Given the description of an element on the screen output the (x, y) to click on. 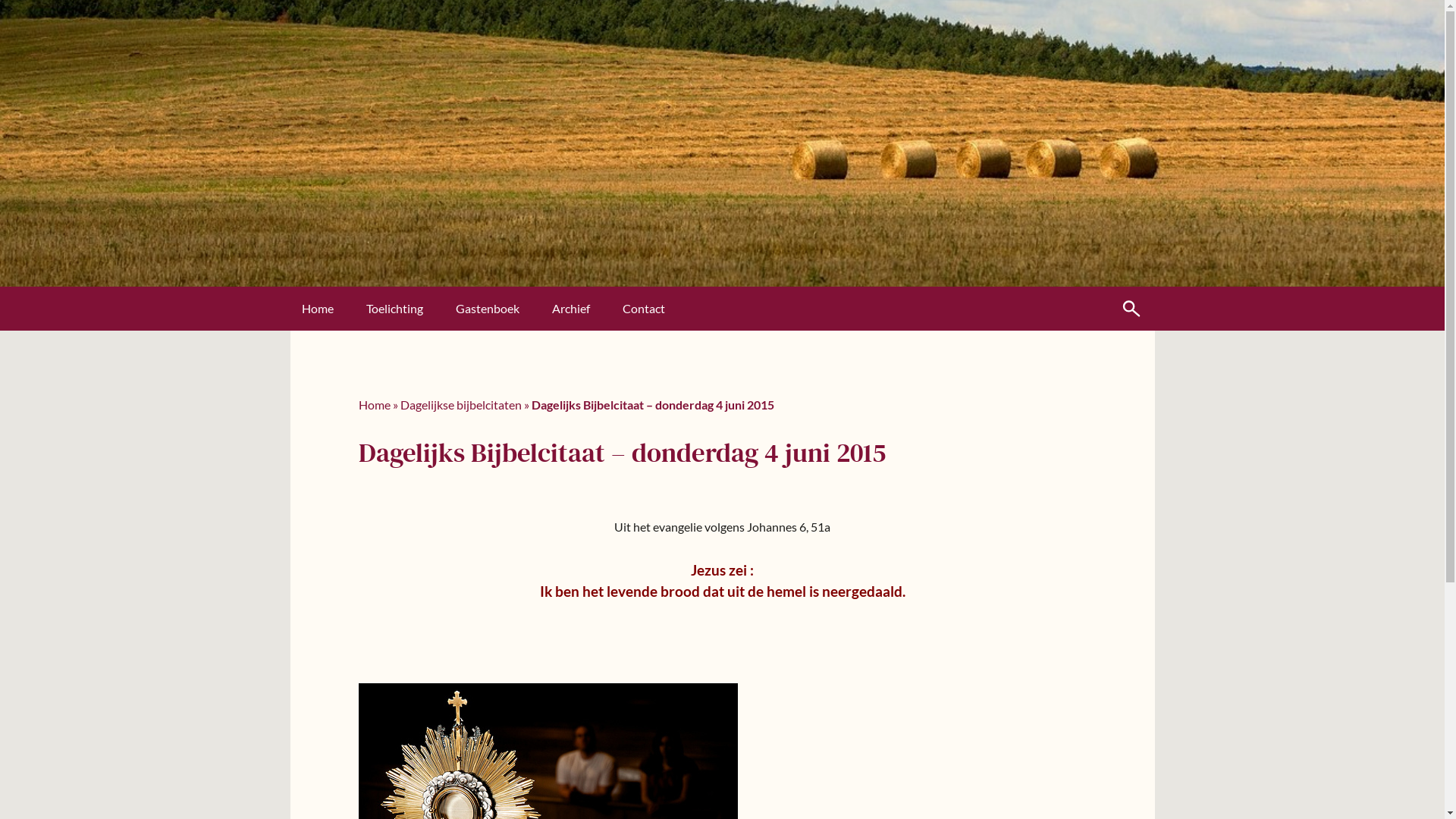
Home Element type: text (373, 404)
Contact Element type: text (657, 308)
Dagelijkse bijbelcitaten Element type: text (460, 404)
Home Element type: text (332, 308)
Gastenboek Element type: text (502, 308)
Archief Element type: text (586, 308)
Toelichting Element type: text (408, 308)
